Given the description of an element on the screen output the (x, y) to click on. 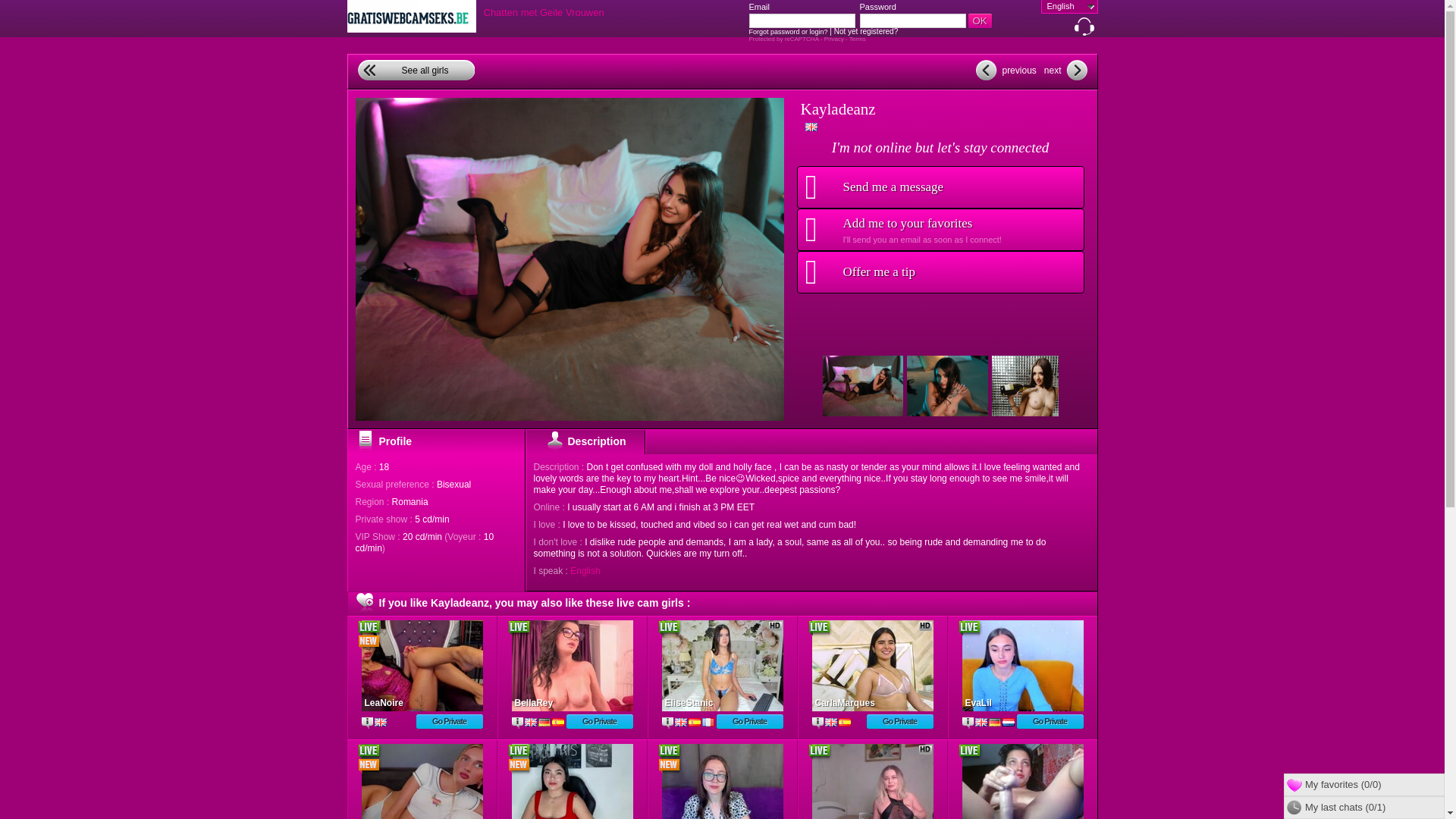
KaylaDeanz (862, 385)
Not yet registered? (866, 31)
OK (979, 20)
At least 4 characters (802, 20)
Leanoire - sexcam (421, 665)
At least 5 characters (913, 20)
Send me a message (940, 187)
Elisestanic - sexcam (722, 665)
next (1064, 69)
Need some help? (1083, 29)
Privacy (834, 39)
KaylaDeanz (947, 385)
KaylaDeanz (1032, 385)
Forgot password or login? (788, 31)
